Given the description of an element on the screen output the (x, y) to click on. 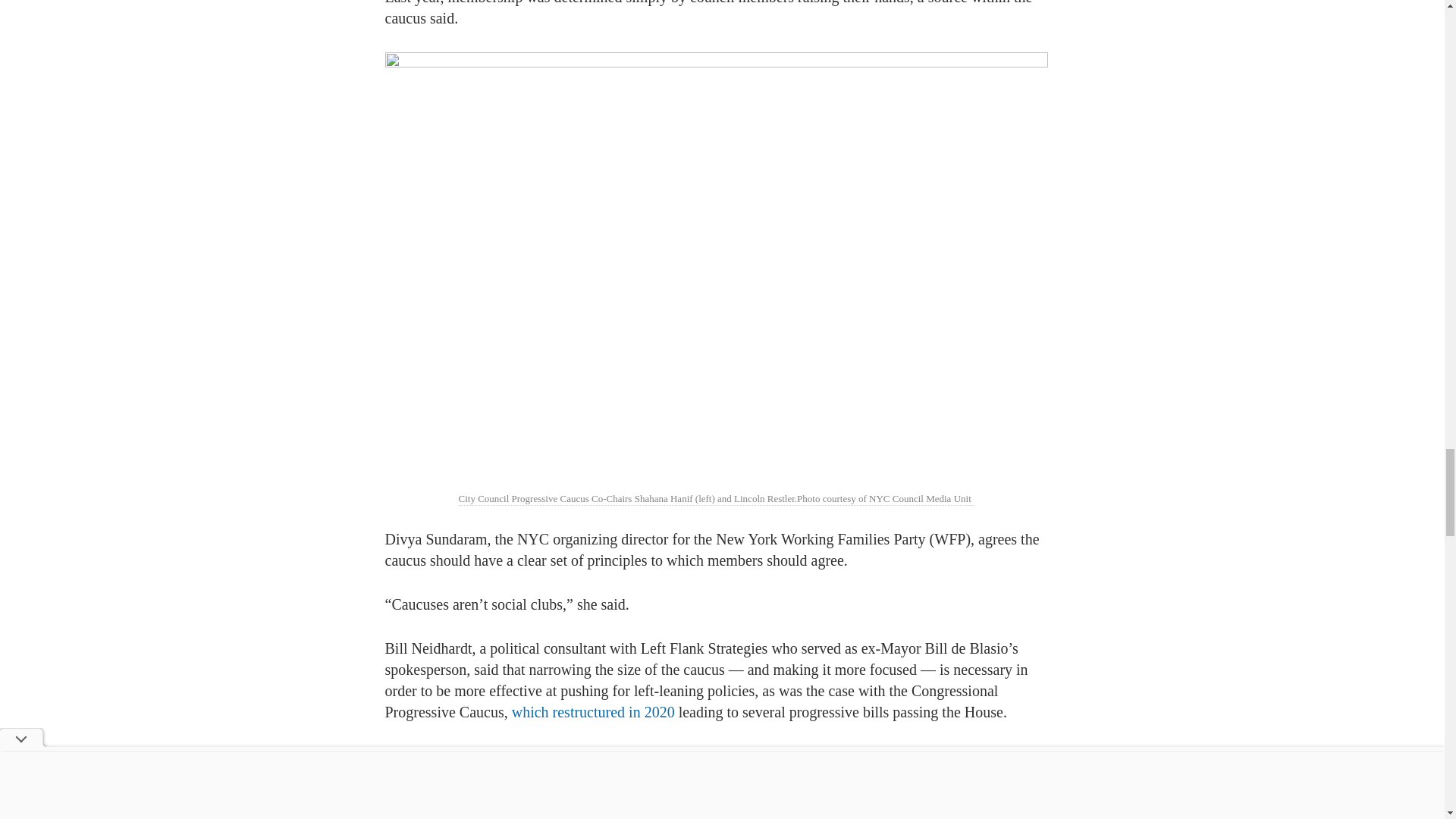
which restructured in 2020 (591, 711)
